Given the description of an element on the screen output the (x, y) to click on. 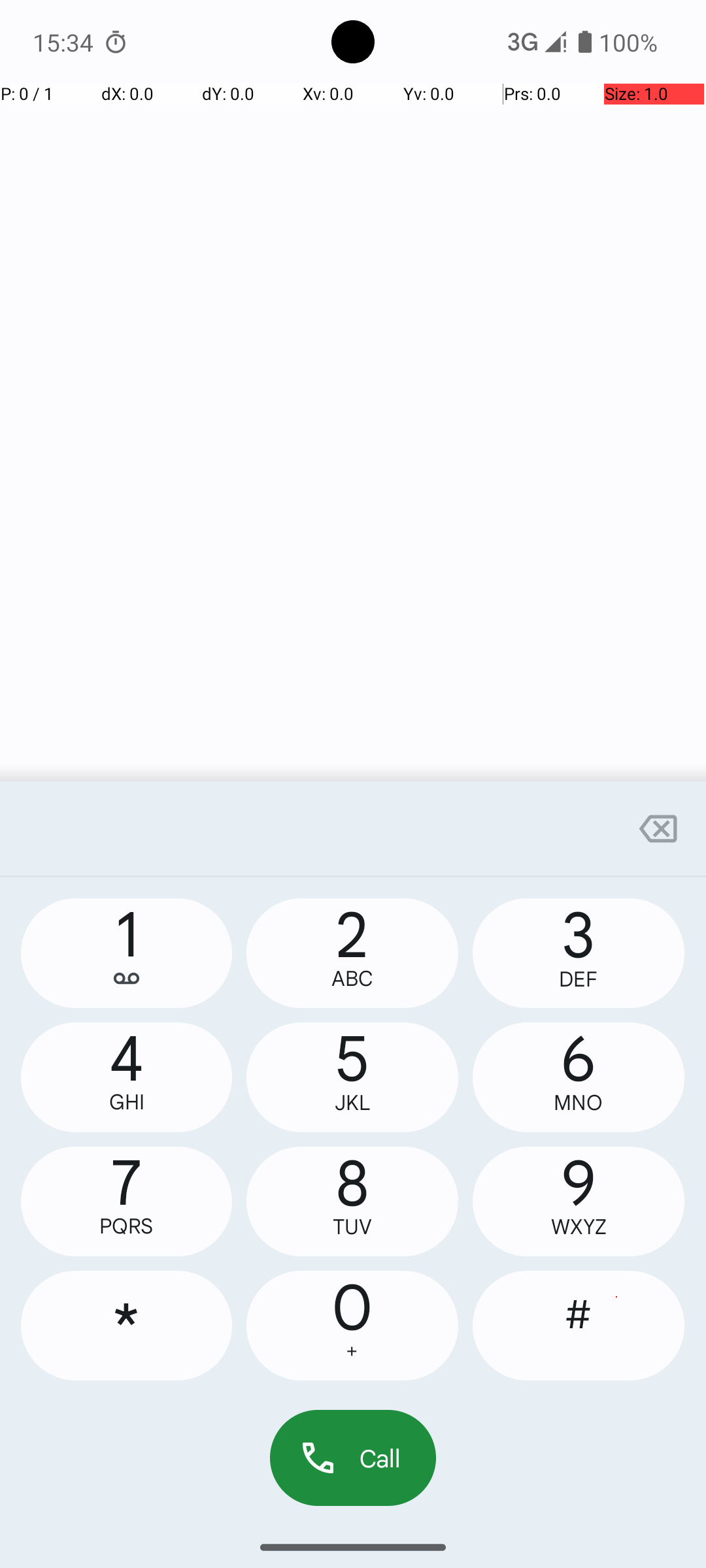
Call Element type: android.widget.Button (352, 1457)
backspace Element type: android.widget.ImageButton (657, 828)
1, Element type: android.widget.FrameLayout (126, 953)
2,ABC Element type: android.widget.FrameLayout (352, 953)
3,DEF Element type: android.widget.FrameLayout (578, 953)
4,GHI Element type: android.widget.FrameLayout (126, 1077)
5,JKL Element type: android.widget.FrameLayout (352, 1077)
6,MNO Element type: android.widget.FrameLayout (578, 1077)
7,PQRS Element type: android.widget.FrameLayout (126, 1201)
8,TUV Element type: android.widget.FrameLayout (352, 1201)
9,WXYZ Element type: android.widget.FrameLayout (578, 1201)
* Element type: android.widget.FrameLayout (126, 1325)
# Element type: android.widget.FrameLayout (578, 1325)
ABC Element type: android.widget.TextView (351, 978)
DEF Element type: android.widget.TextView (578, 978)
GHI Element type: android.widget.TextView (126, 1101)
JKL Element type: android.widget.TextView (351, 1102)
MNO Element type: android.widget.TextView (578, 1102)
PQRS Element type: android.widget.TextView (126, 1225)
TUV Element type: android.widget.TextView (351, 1226)
WXYZ Element type: android.widget.TextView (578, 1226)
+ Element type: android.widget.TextView (351, 1351)
